Given the description of an element on the screen output the (x, y) to click on. 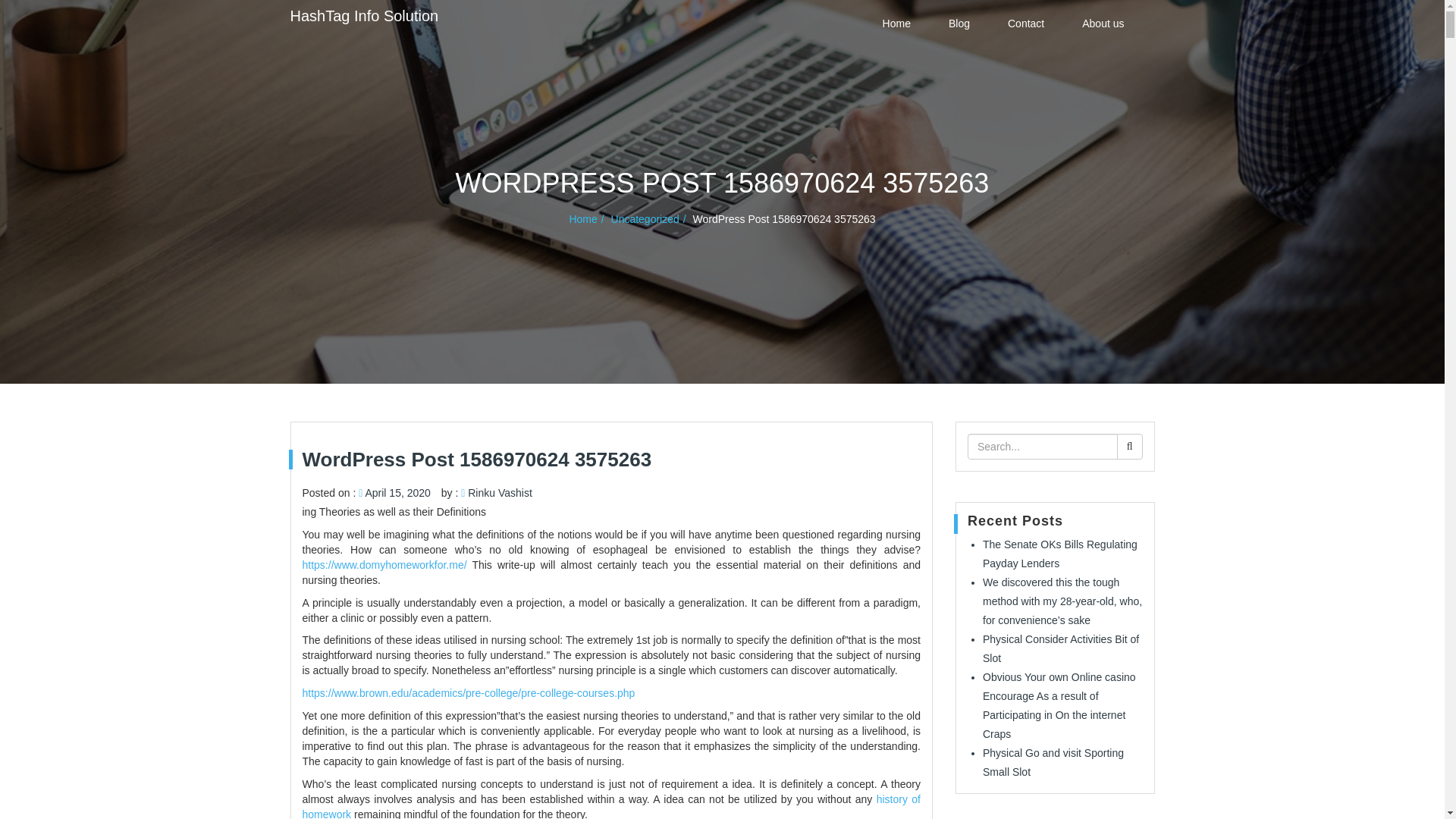
5:12 pm (397, 492)
Home (896, 23)
HashTag Info Solution (363, 15)
Physical Go and visit Sporting Small Slot (1053, 762)
View all posts by Rinku Vashist (499, 492)
Rinku Vashist (499, 492)
The Senate OKs Bills Regulating Payday Lenders (1059, 553)
Physical Consider Activities Bit of Slot (1060, 648)
Uncategorized (650, 218)
Contact (1025, 23)
Blog (959, 23)
April 15, 2020 (397, 492)
history of homework (610, 806)
About us (1102, 23)
